Given the description of an element on the screen output the (x, y) to click on. 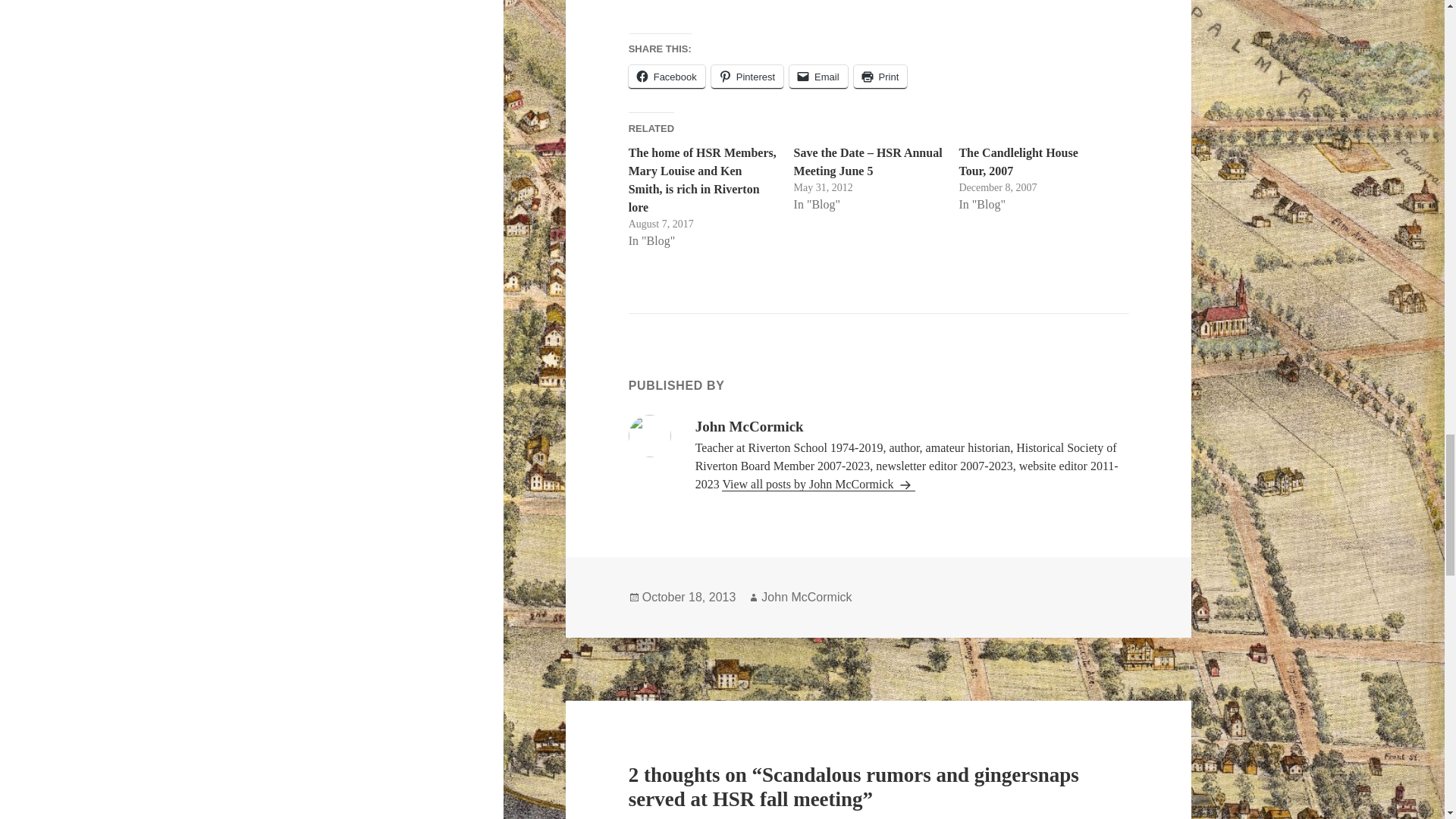
Click to share on Pinterest (747, 76)
View all posts by John McCormick (818, 484)
The Candlelight House Tour, 2007 (1017, 161)
Click to email a link to a friend (818, 76)
Click to share on Facebook (666, 76)
Facebook (666, 76)
Print (880, 76)
The Candlelight House Tour, 2007 (1017, 161)
Pinterest (747, 76)
Email (818, 76)
October 18, 2013 (689, 597)
Click to print (880, 76)
